Given the description of an element on the screen output the (x, y) to click on. 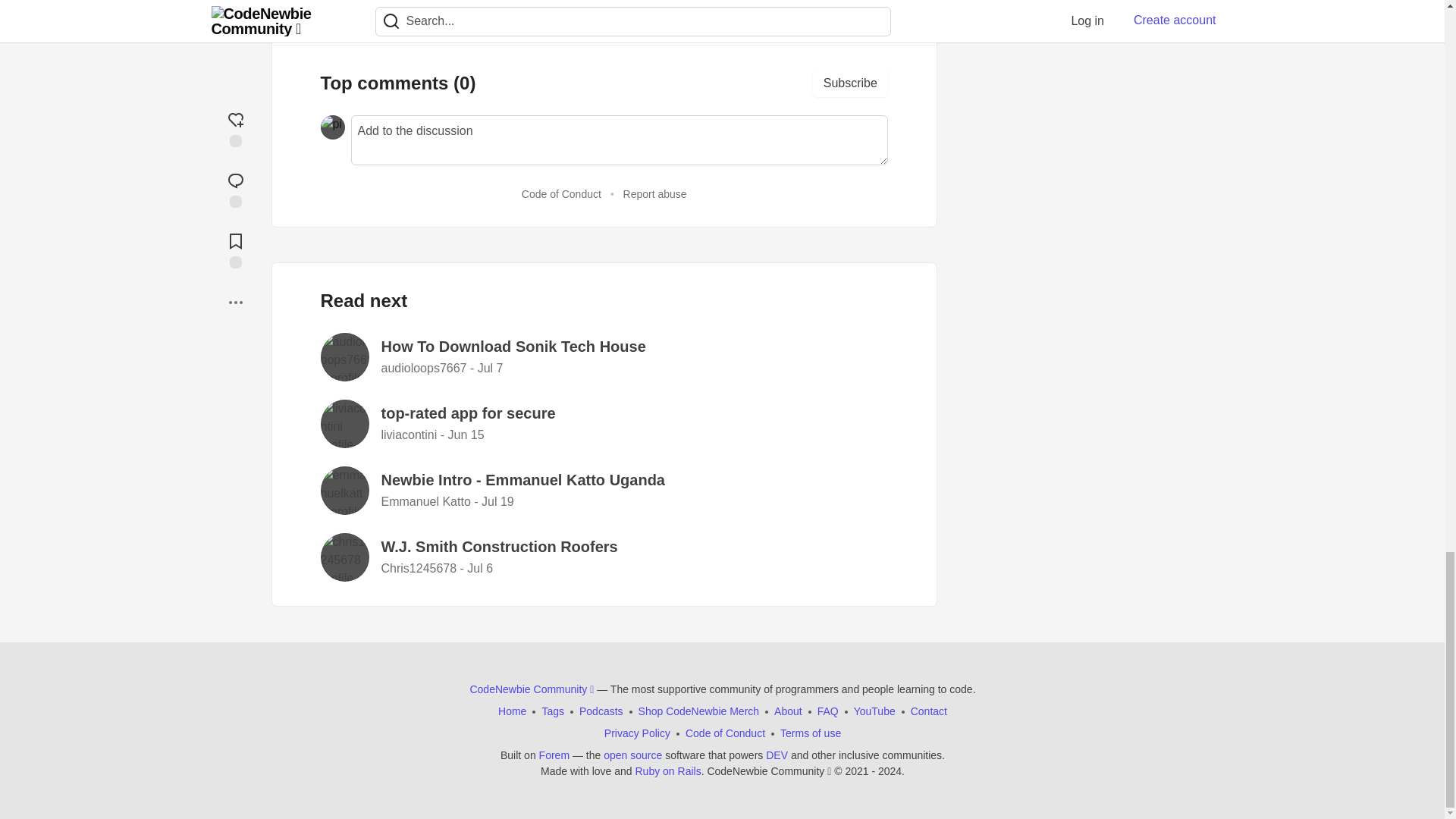
Report abuse (655, 193)
Code of Conduct (561, 193)
copyright (837, 770)
